Given the description of an element on the screen output the (x, y) to click on. 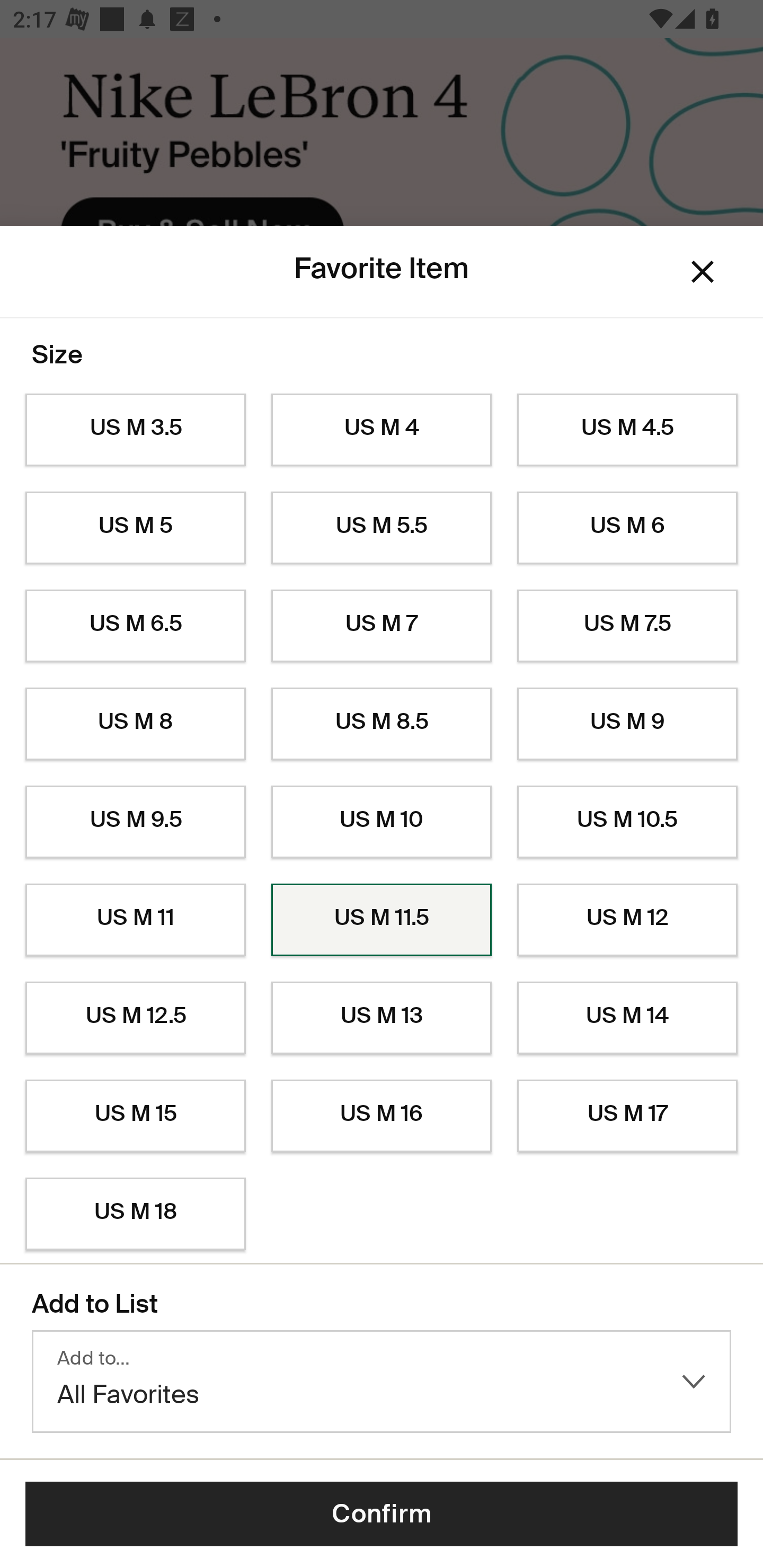
Dismiss (702, 271)
US M 3.5 (135, 430)
US M 4 (381, 430)
US M 4.5 (627, 430)
US M 5 (135, 527)
US M 5.5 (381, 527)
US M 6 (627, 527)
US M 6.5 (135, 626)
US M 7 (381, 626)
US M 7.5 (627, 626)
US M 8 (135, 724)
US M 8.5 (381, 724)
US M 9 (627, 724)
US M 9.5 (135, 822)
US M 10 (381, 822)
US M 10.5 (627, 822)
US M 11 (135, 919)
US M 11.5 (381, 919)
US M 12 (627, 919)
US M 12.5 (135, 1018)
US M 13 (381, 1018)
US M 14 (627, 1018)
US M 15 (135, 1116)
US M 16 (381, 1116)
US M 17 (627, 1116)
US M 18 (135, 1214)
Add to… All Favorites (381, 1381)
Confirm (381, 1513)
